Given the description of an element on the screen output the (x, y) to click on. 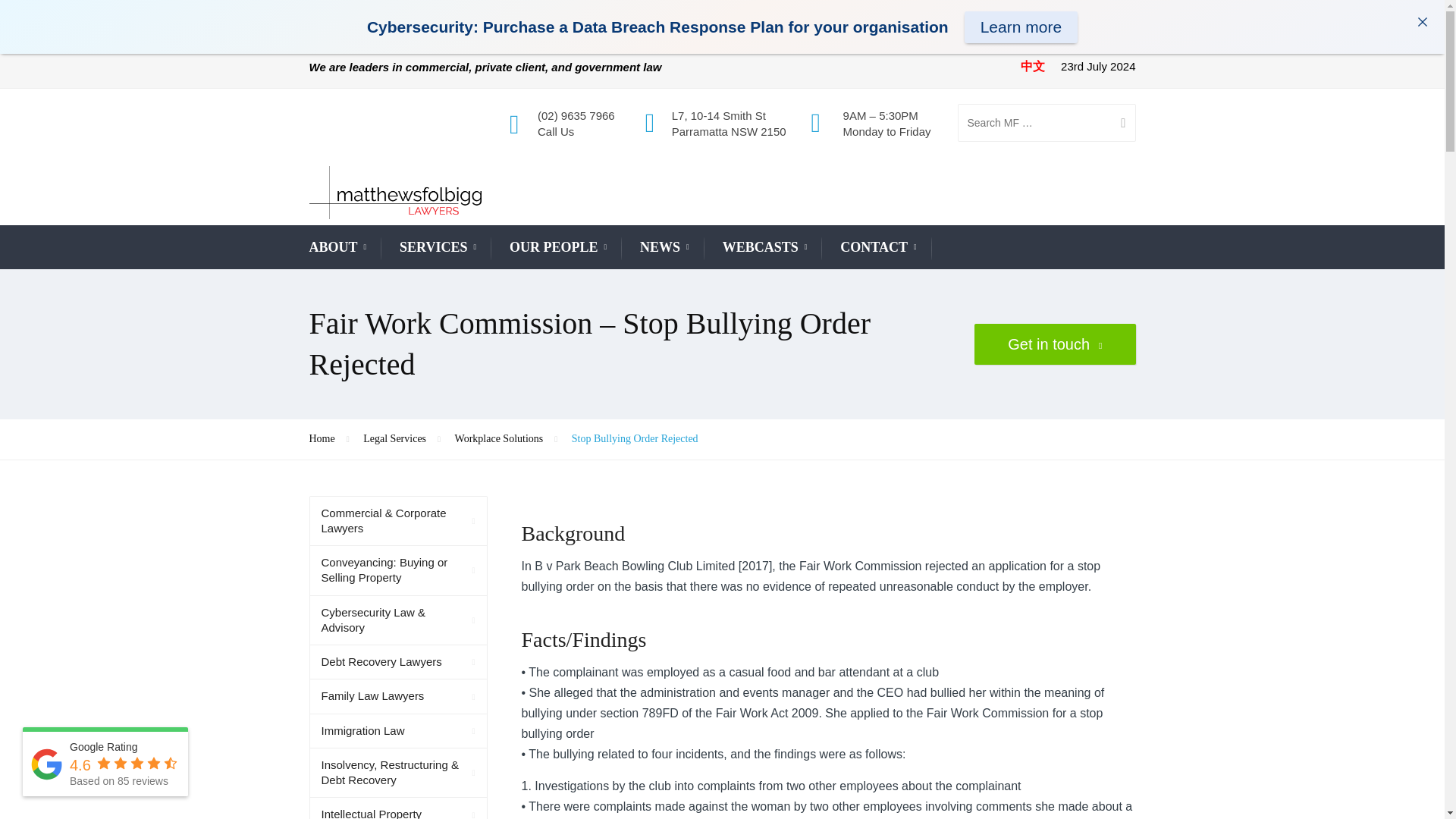
Search (1117, 122)
SERVICES (437, 248)
Close (1423, 21)
ABOUT (337, 248)
Search (1117, 122)
Search (1117, 122)
